Given the description of an element on the screen output the (x, y) to click on. 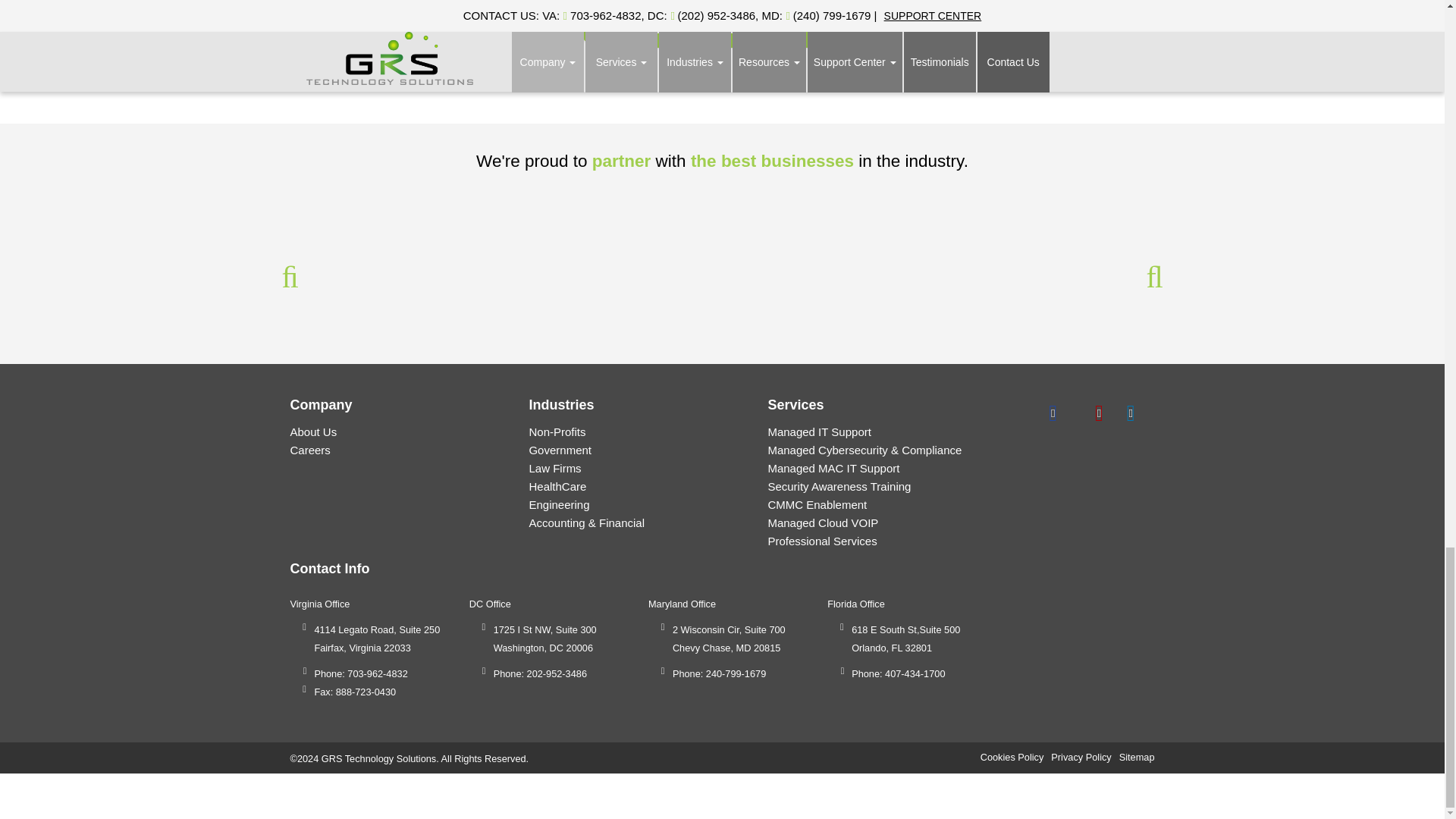
Law Firms (554, 468)
Government (559, 449)
Find us on Youtube (1098, 411)
Follow us on Facebook (1053, 411)
Careers (309, 449)
HealthCare (557, 486)
Engineering (558, 504)
Non-Profits (556, 431)
Sitemap (1136, 756)
About Us (312, 431)
